Given the description of an element on the screen output the (x, y) to click on. 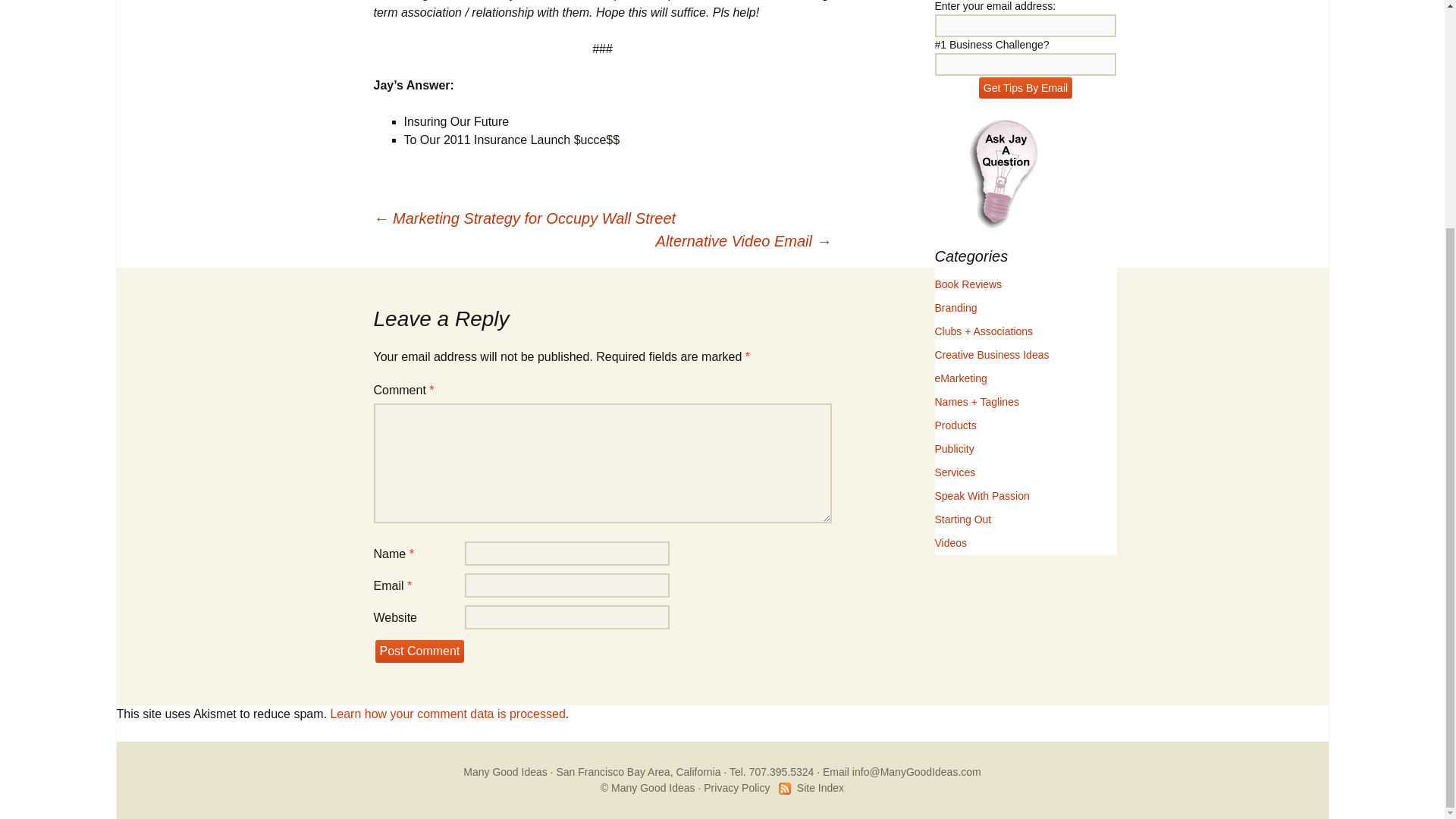
eMarketing (960, 378)
Services (954, 472)
Videos (950, 542)
Starting Out (962, 519)
Post Comment (419, 650)
Speak With Passion (981, 495)
Branding (955, 307)
Ask Jay A Question (1002, 172)
Many Good Ideas (505, 771)
Book Reviews (967, 284)
Creative Business Ideas (991, 354)
Publicity (954, 449)
Post Comment (419, 650)
Many Good Ideas: Creative Marketing Strategy Consultant (505, 771)
Learn how your comment data is processed (447, 713)
